Given the description of an element on the screen output the (x, y) to click on. 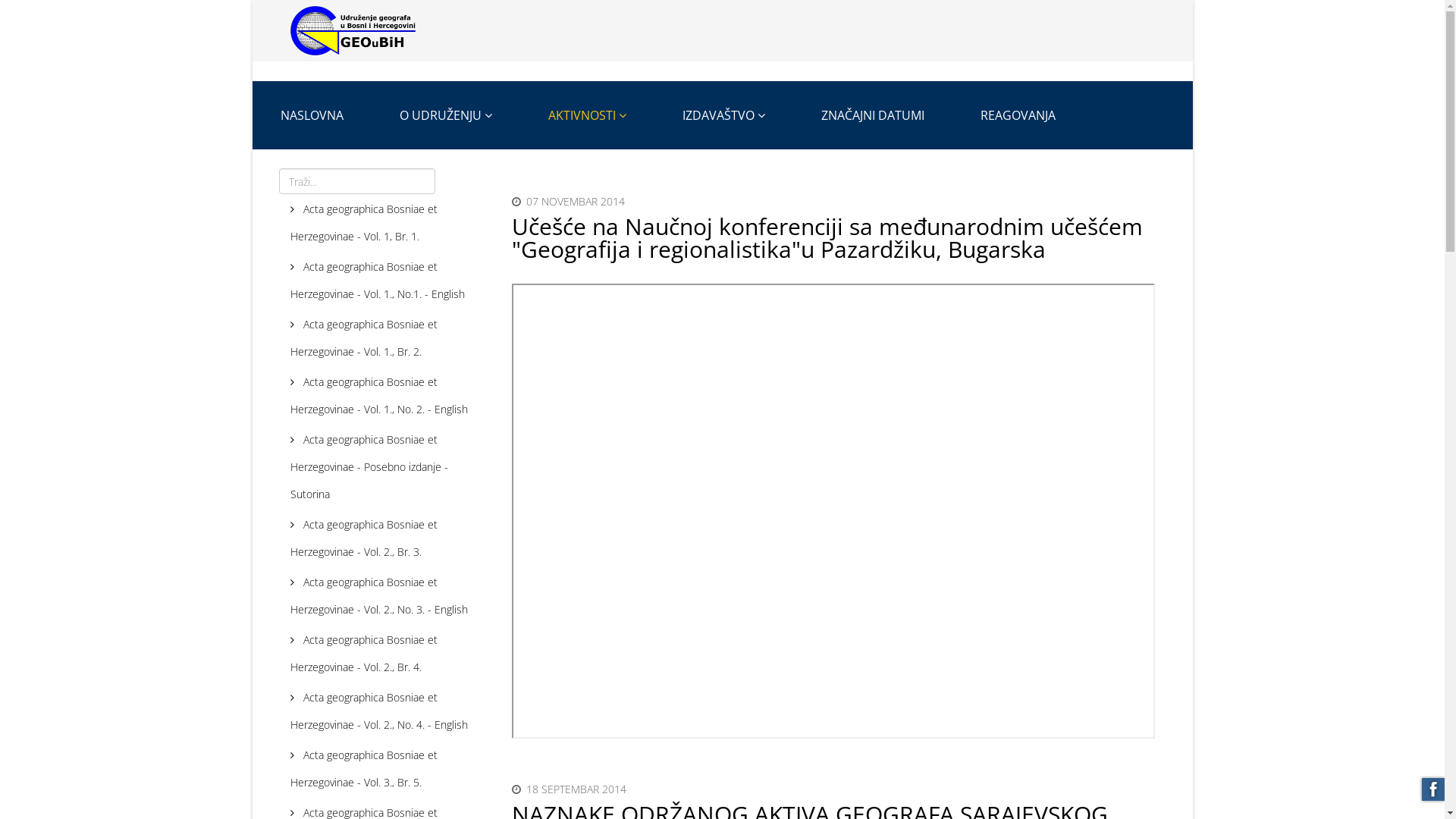
Acta geographica Bosniae et Herzegovinae - Vol. 2., Br. 3. Element type: text (389, 538)
AKTIVNOSTI Element type: text (587, 115)
Acta geographica Bosniae et Herzegovinae - Vol. 1, Br. 1. Element type: text (389, 222)
Facebook - GEOuBiH Element type: hover (1430, 789)
NASLOVNA Element type: text (310, 115)
REAGOVANJA Element type: text (1017, 115)
Acta geographica Bosniae et Herzegovinae - Vol. 1., Br. 2. Element type: text (389, 338)
Acta geographica Bosniae et Herzegovinae - Vol. 3., Br. 5. Element type: text (389, 768)
Acta geographica Bosniae et Herzegovinae - Vol. 2., Br. 4. Element type: text (389, 653)
